Given the description of an element on the screen output the (x, y) to click on. 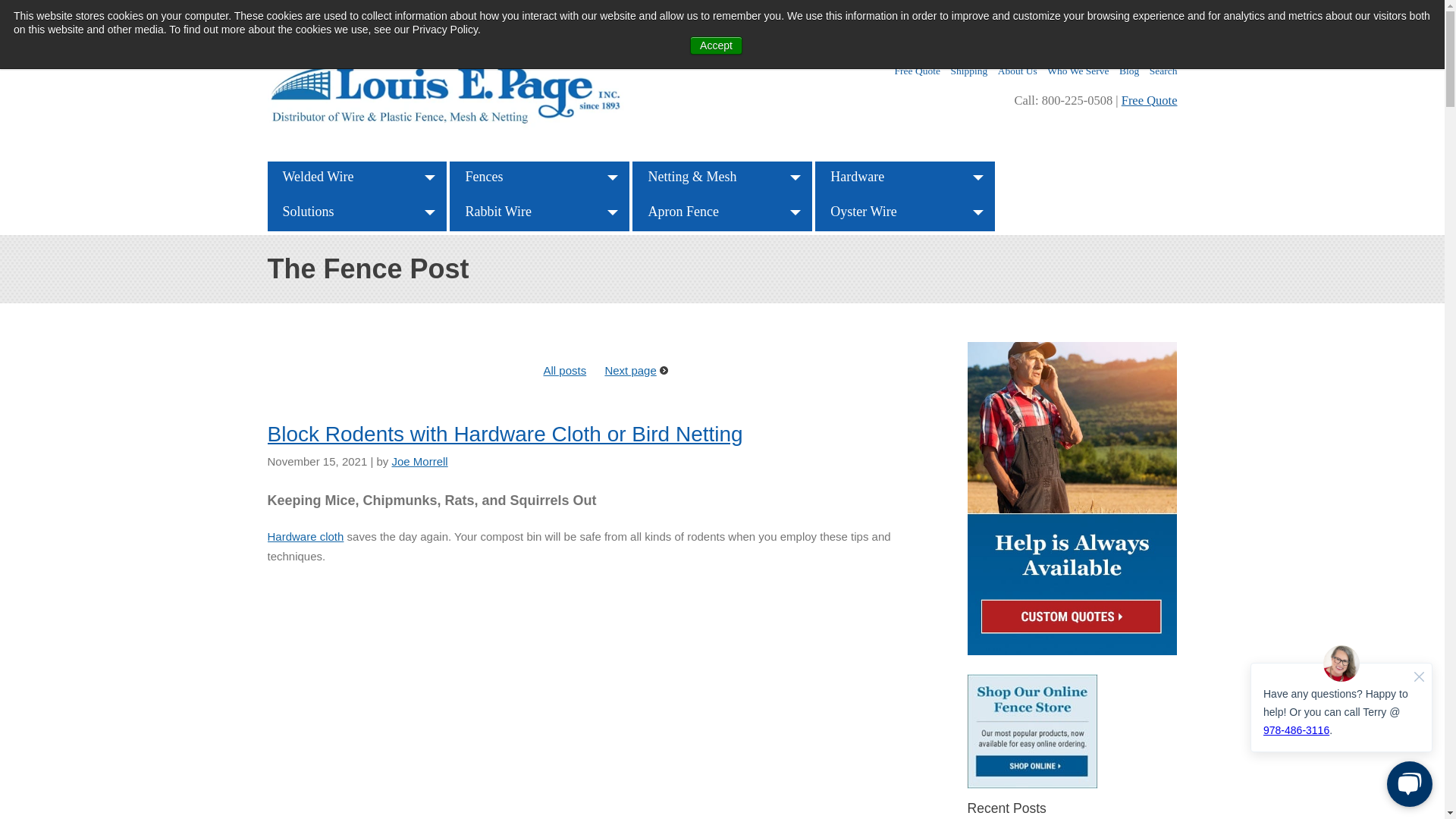
About Us (1016, 70)
Chat Widget (1341, 725)
Welded Wire (317, 176)
Accept (716, 45)
800-225-0508 (1054, 15)
Fences (483, 176)
Louis E.Page (448, 96)
Blog (1128, 70)
YouTube video player (605, 697)
Free Quote (1149, 99)
Free Quote (917, 70)
Who We Serve (1077, 70)
Search (1163, 70)
Shipping (968, 70)
